Given the description of an element on the screen output the (x, y) to click on. 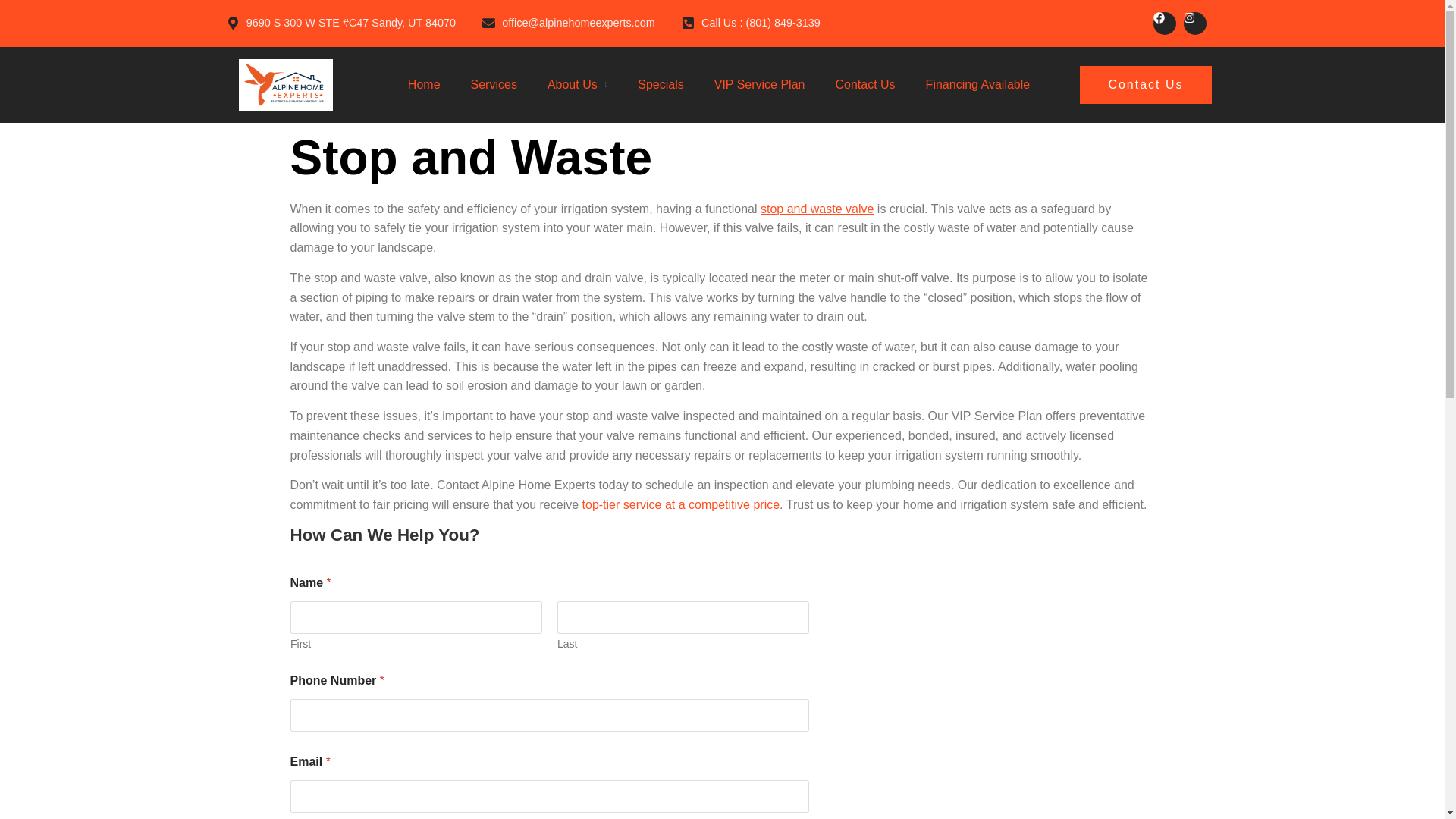
stop and waste valve (816, 208)
Home (424, 85)
Services (493, 85)
Financing Available (978, 85)
VIP Service Plan (759, 85)
Contact Us (1145, 85)
Specials (659, 85)
Contact Us (864, 85)
About Us (571, 85)
top-tier service at a competitive price (681, 504)
